Given the description of an element on the screen output the (x, y) to click on. 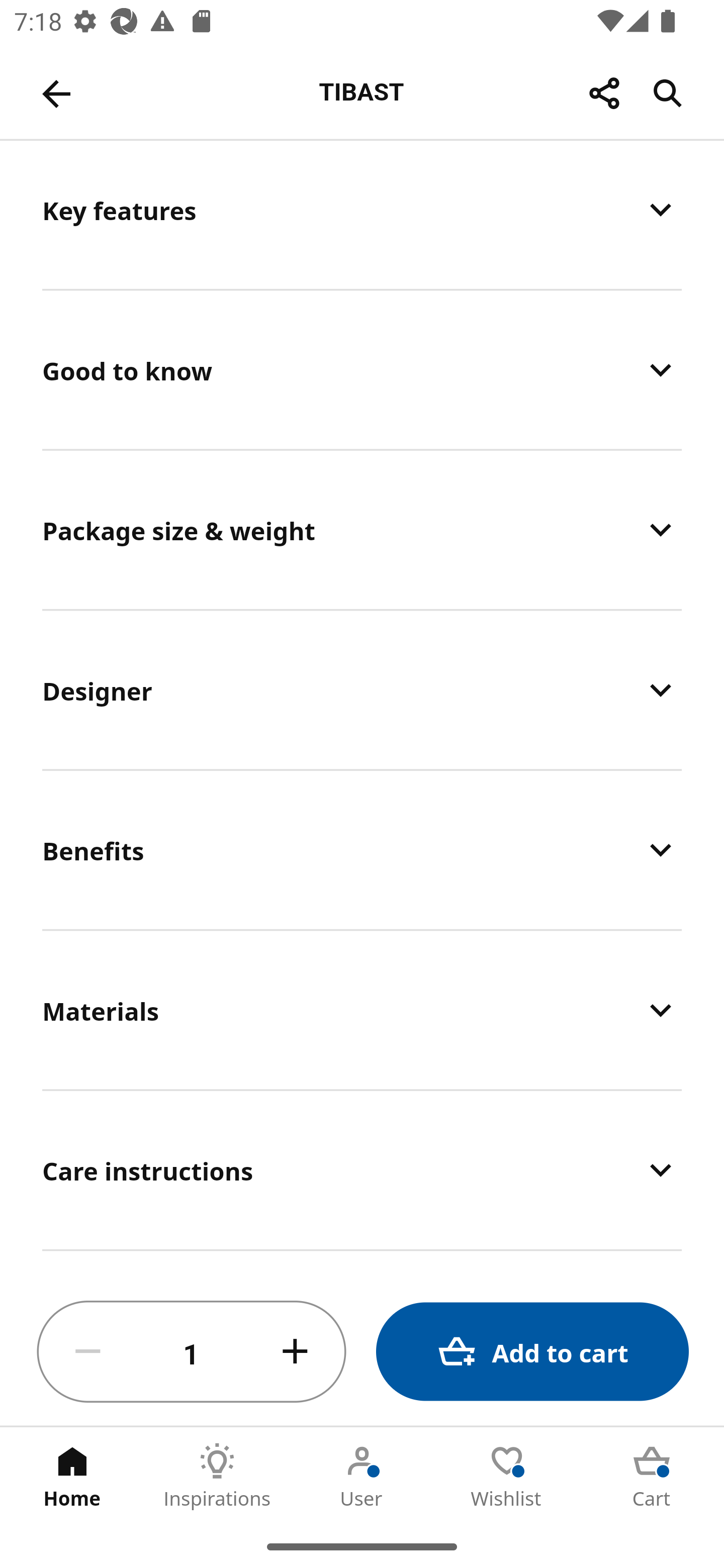
Key features (361, 213)
Good to know (361, 369)
Package size & weight (361, 528)
Designer (361, 689)
Benefits (361, 849)
Materials (361, 1010)
Care instructions (361, 1170)
Add to cart (531, 1352)
1 (191, 1352)
Home
Tab 1 of 5 (72, 1476)
Inspirations
Tab 2 of 5 (216, 1476)
User
Tab 3 of 5 (361, 1476)
Wishlist
Tab 4 of 5 (506, 1476)
Cart
Tab 5 of 5 (651, 1476)
